Given the description of an element on the screen output the (x, y) to click on. 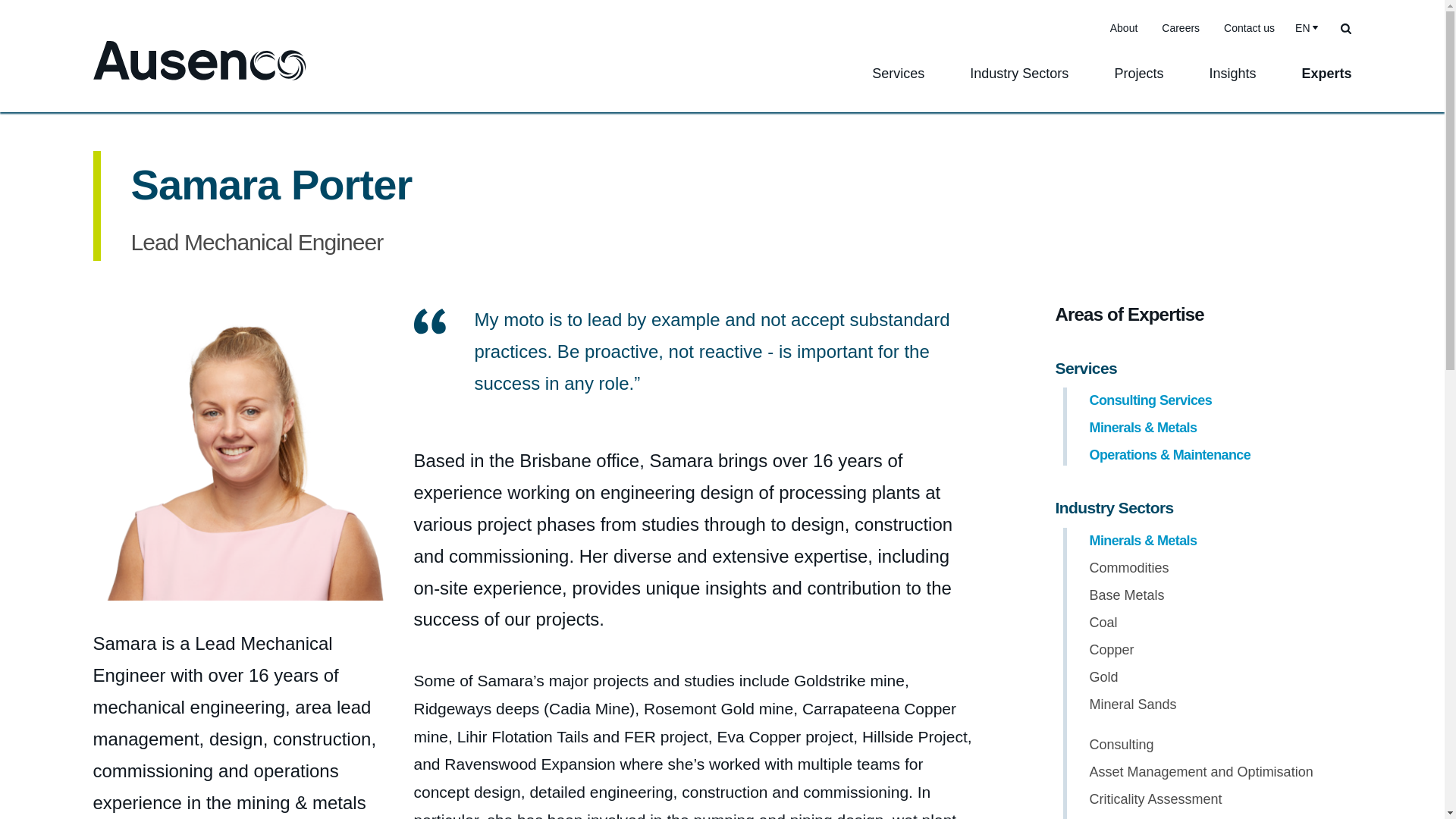
Search (1345, 28)
Consulting (1121, 744)
Experts (1326, 84)
About (1123, 27)
Services (897, 84)
EN (1304, 28)
Base Metals (1126, 595)
Gold (1103, 676)
Coal (1102, 622)
Ausenco English (199, 60)
Consulting Services (1150, 400)
Mineral Sands (1132, 703)
Insights (1232, 84)
Projects (1138, 84)
Industry Sectors (1018, 84)
